Given the description of an element on the screen output the (x, y) to click on. 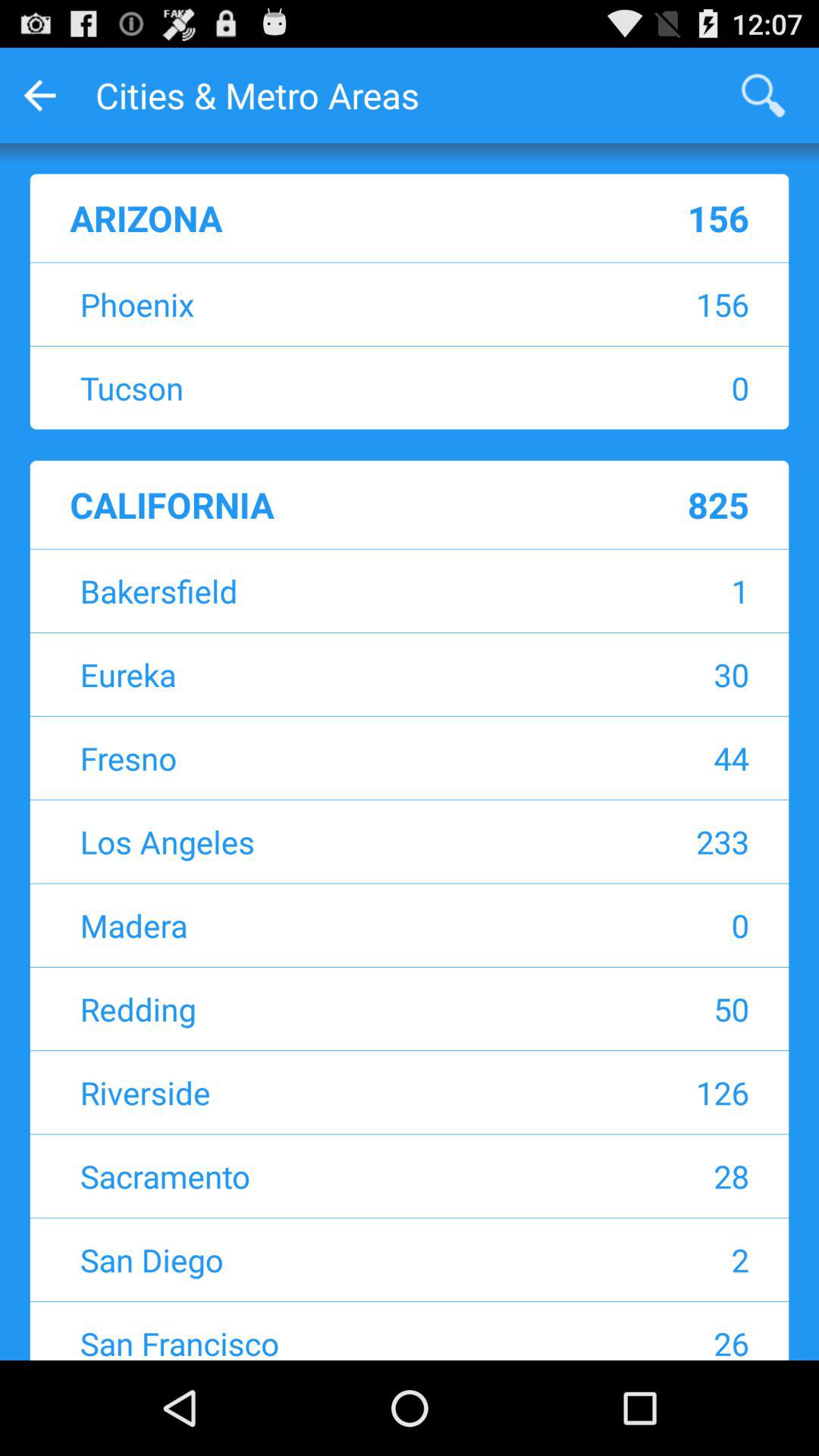
launch california item (309, 504)
